Given the description of an element on the screen output the (x, y) to click on. 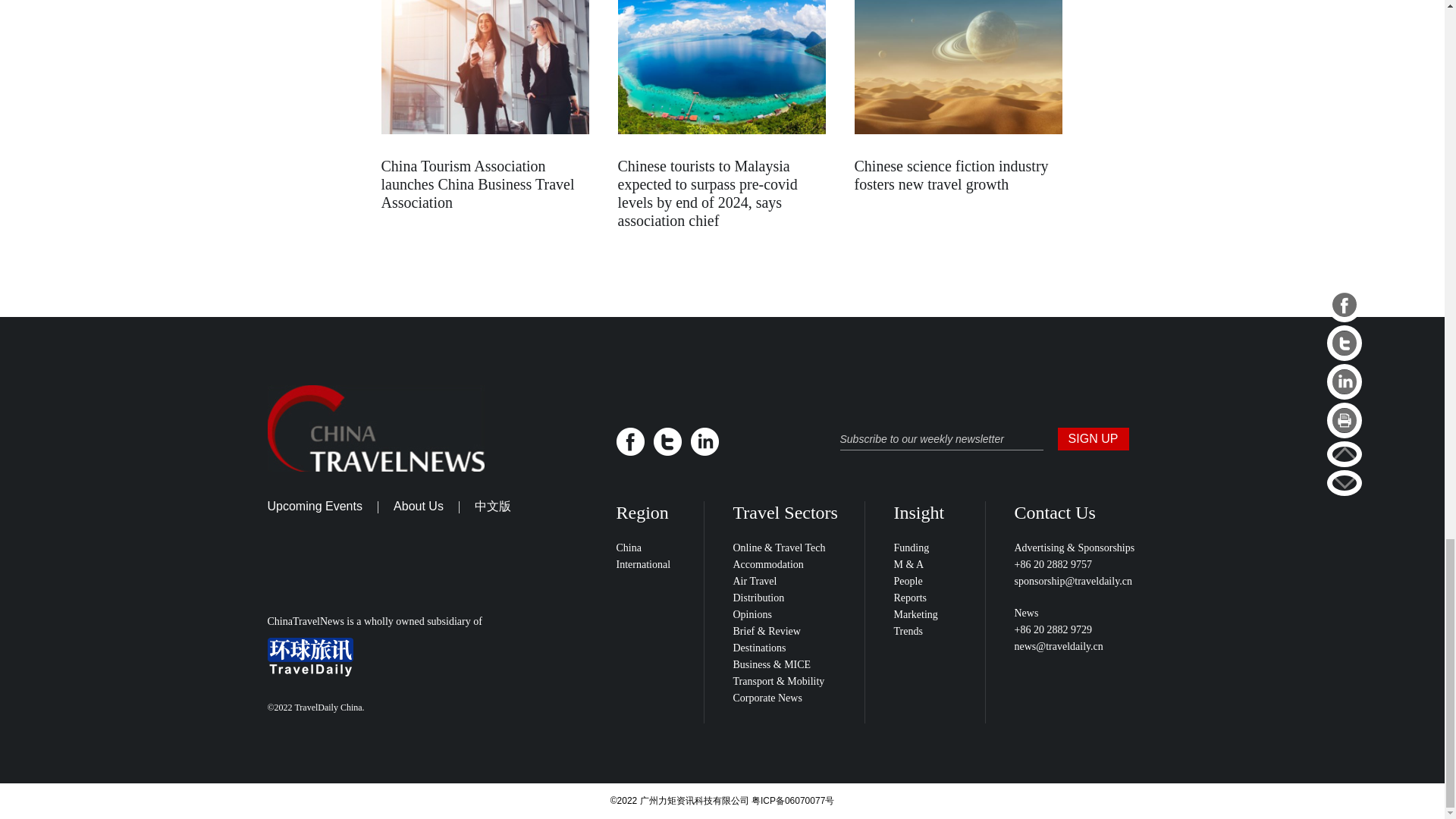
About Us (418, 505)
Upcoming Events (313, 505)
SIGN UP (1092, 438)
Chinese science fiction industry fosters new travel growth (950, 175)
